Given the description of an element on the screen output the (x, y) to click on. 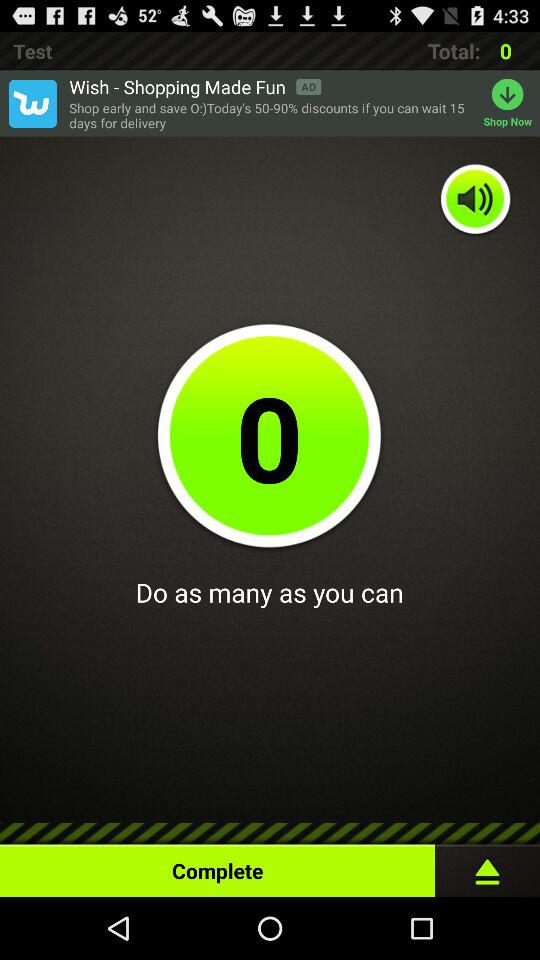
tap the icon below the wish shopping made item (271, 115)
